Given the description of an element on the screen output the (x, y) to click on. 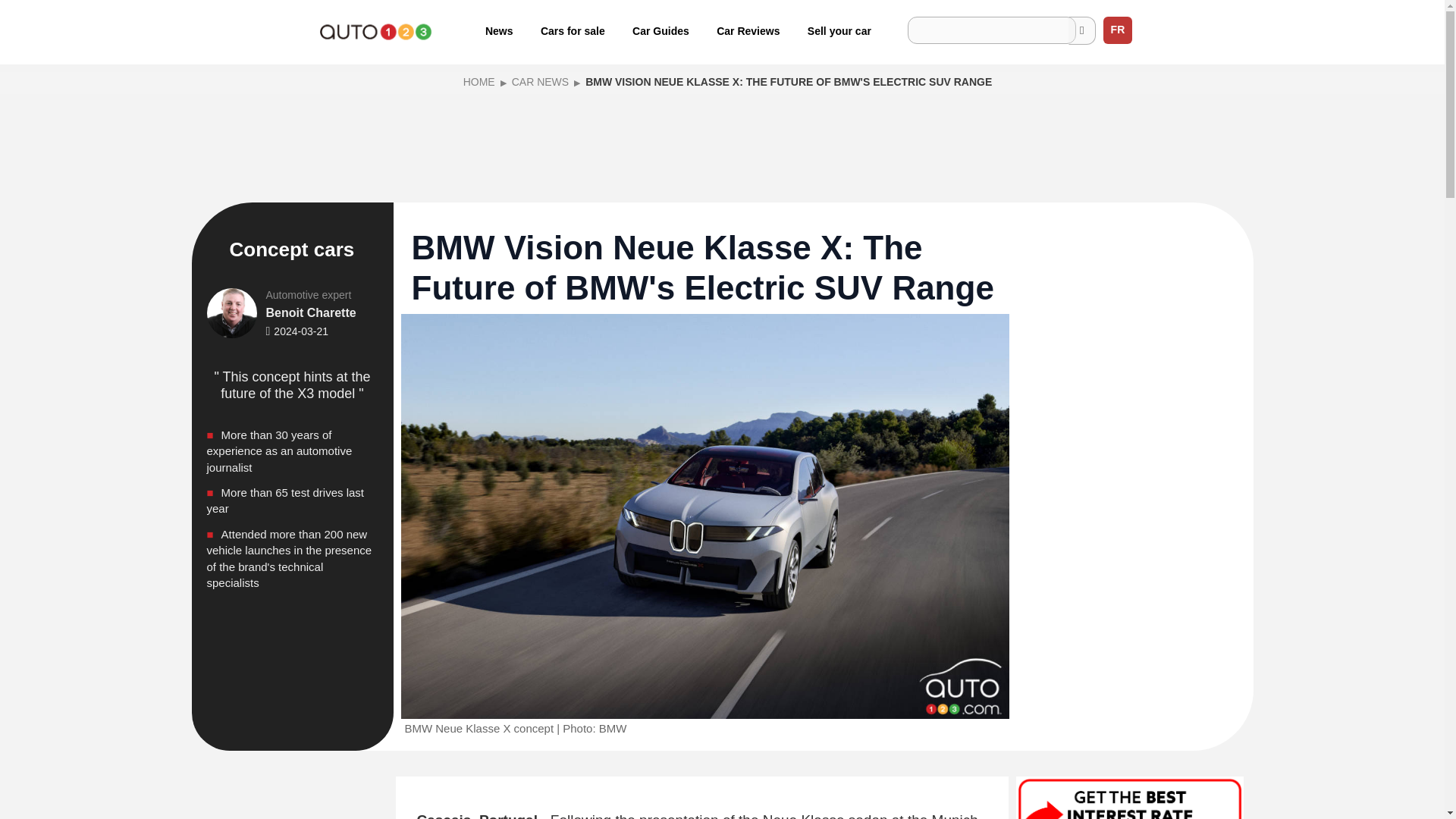
Car Guides (660, 30)
Cars for sale (572, 30)
Sell your car (839, 30)
Car Guides (660, 30)
Car Reviews (748, 30)
News (499, 30)
Cars for sale (572, 30)
Sell your car (839, 30)
News (499, 30)
Car Reviews (748, 30)
